Given the description of an element on the screen output the (x, y) to click on. 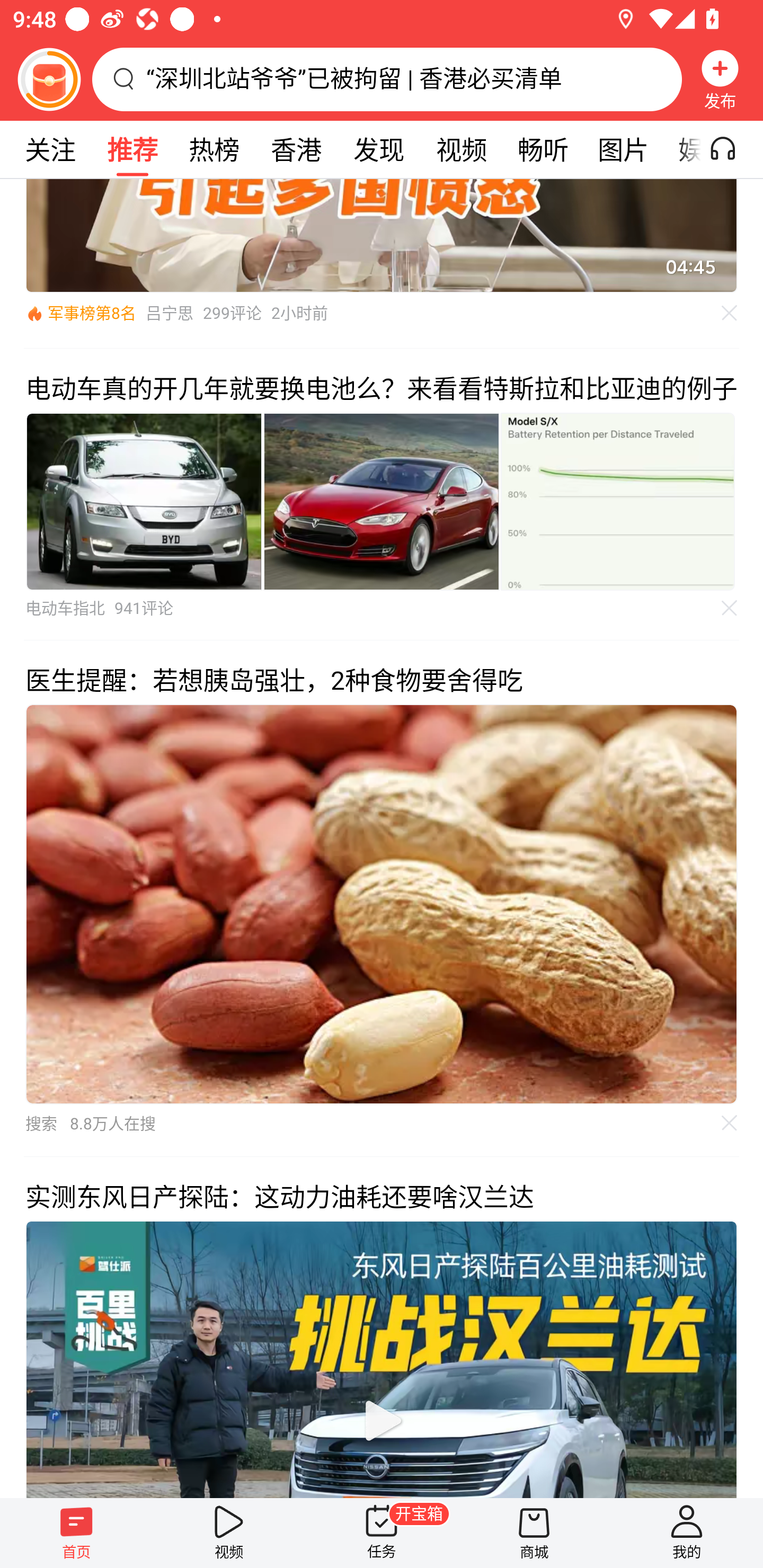
阅读赚金币 (48, 79)
“深圳北站爷爷”已被拘留 | 香港必买清单 搜索框，“深圳北站爷爷”已被拘留 | 香港必买清单 (387, 79)
发布 发布，按钮 (720, 78)
关注 (50, 149)
推荐 (132, 149)
热榜 (213, 149)
香港 (295, 149)
发现 (378, 149)
视频 (461, 149)
畅听 (542, 149)
图片 (623, 149)
听一听开关 (732, 149)
不感兴趣 (729, 313)
内容图片 (143, 501)
内容图片 (381, 501)
内容图片 (617, 501)
不感兴趣 (729, 608)
医生提醒：若想胰岛强壮，2种食物要舍得吃 搜索 8.8万人在搜 不感兴趣 (381, 898)
不感兴趣 (729, 1122)
实测东风日产探陆：这动力油耗还要啥汉兰达 播放视频 视频播放器，双击屏幕打开播放控制 (381, 1327)
播放视频 视频播放器，双击屏幕打开播放控制 (381, 1358)
播放视频 (381, 1420)
首页 (76, 1532)
视频 (228, 1532)
任务 开宝箱 (381, 1532)
商城 (533, 1532)
我的 (686, 1532)
